Given the description of an element on the screen output the (x, y) to click on. 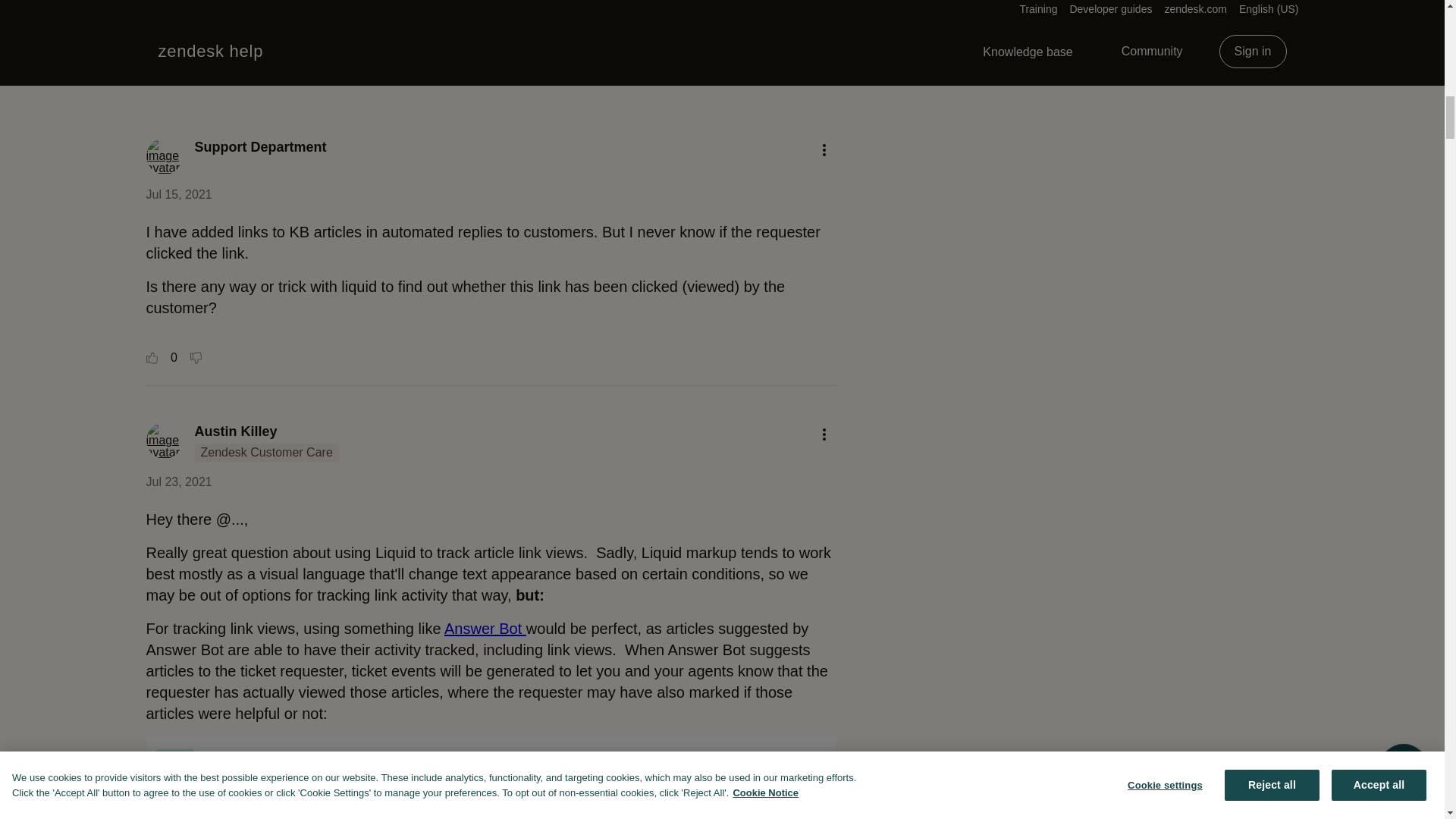
Jul 15, 2021 (178, 194)
Jul 23, 2021 (178, 481)
